Given the description of an element on the screen output the (x, y) to click on. 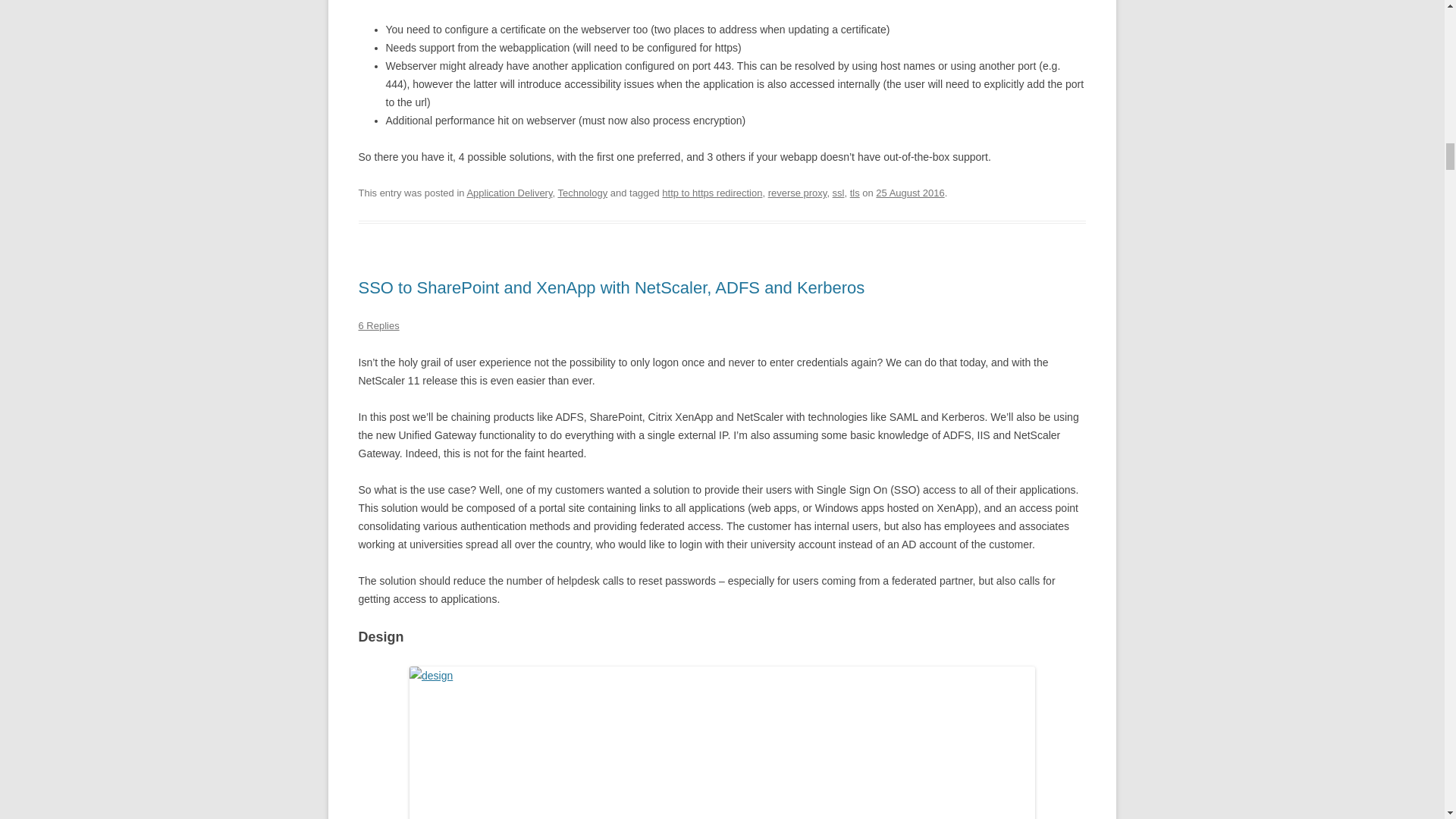
Application Delivery (508, 193)
Technology (582, 193)
reverse proxy (797, 193)
14:20 (909, 193)
25 August 2016 (909, 193)
6 Replies (378, 325)
ssl (838, 193)
http to https redirection (711, 193)
